Given the description of an element on the screen output the (x, y) to click on. 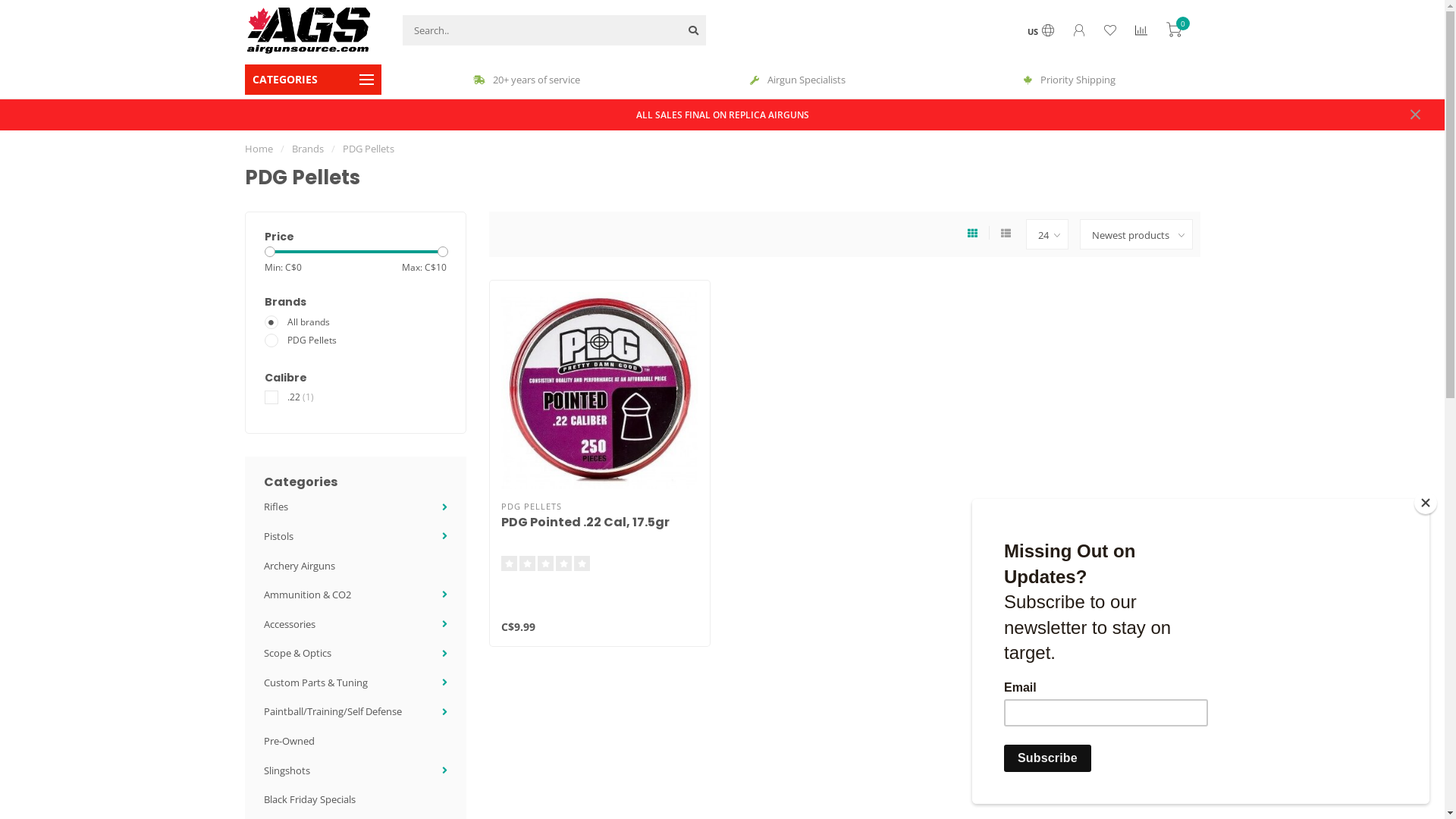
Pistols Element type: text (278, 535)
Archery Airguns Element type: text (299, 565)
PDG Pointed .22 Cal, 17.5gr Element type: text (585, 521)
Rifles Element type: text (275, 506)
PDG Pellets Element type: text (368, 148)
Paintball/Training/Self Defense Element type: text (332, 711)
Ammunition & CO2 Element type: text (307, 594)
Pre-Owned Element type: text (288, 740)
Custom Parts & Tuning Element type: text (315, 682)
Home Element type: text (258, 148)
Scope & Optics Element type: text (297, 652)
Black Friday Specials Element type: text (309, 799)
Brands Element type: text (307, 148)
Slingshots Element type: text (286, 770)
PDG Pellets PDG Pointed .22 Cal, 17.5gr Element type: hover (599, 390)
Accessories Element type: text (289, 623)
US Element type: text (1039, 31)
0 Element type: text (1173, 32)
